Given the description of an element on the screen output the (x, y) to click on. 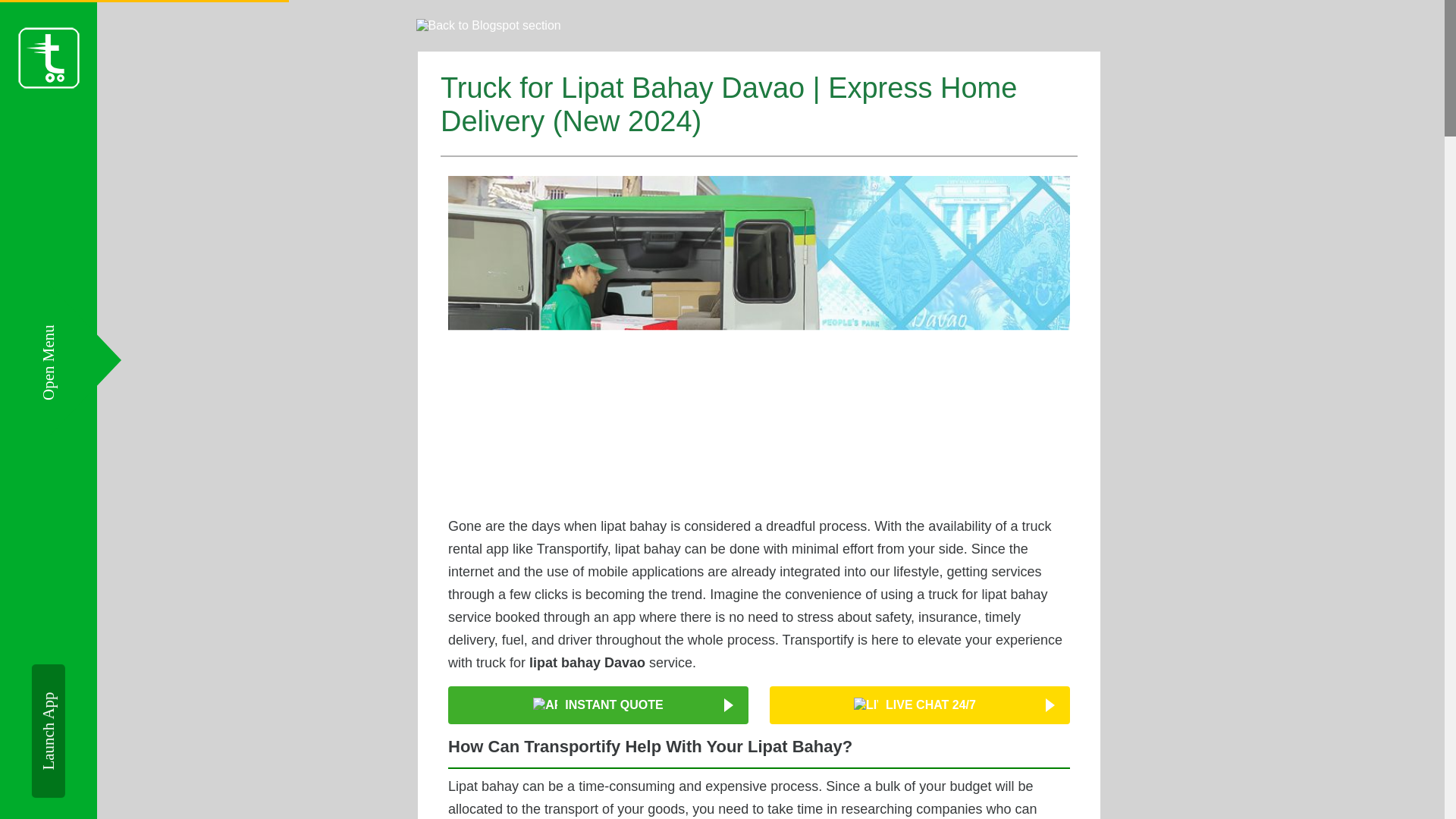
Open Menu (77, 333)
Launch App (98, 680)
INSTANT QUOTE (598, 704)
